Given the description of an element on the screen output the (x, y) to click on. 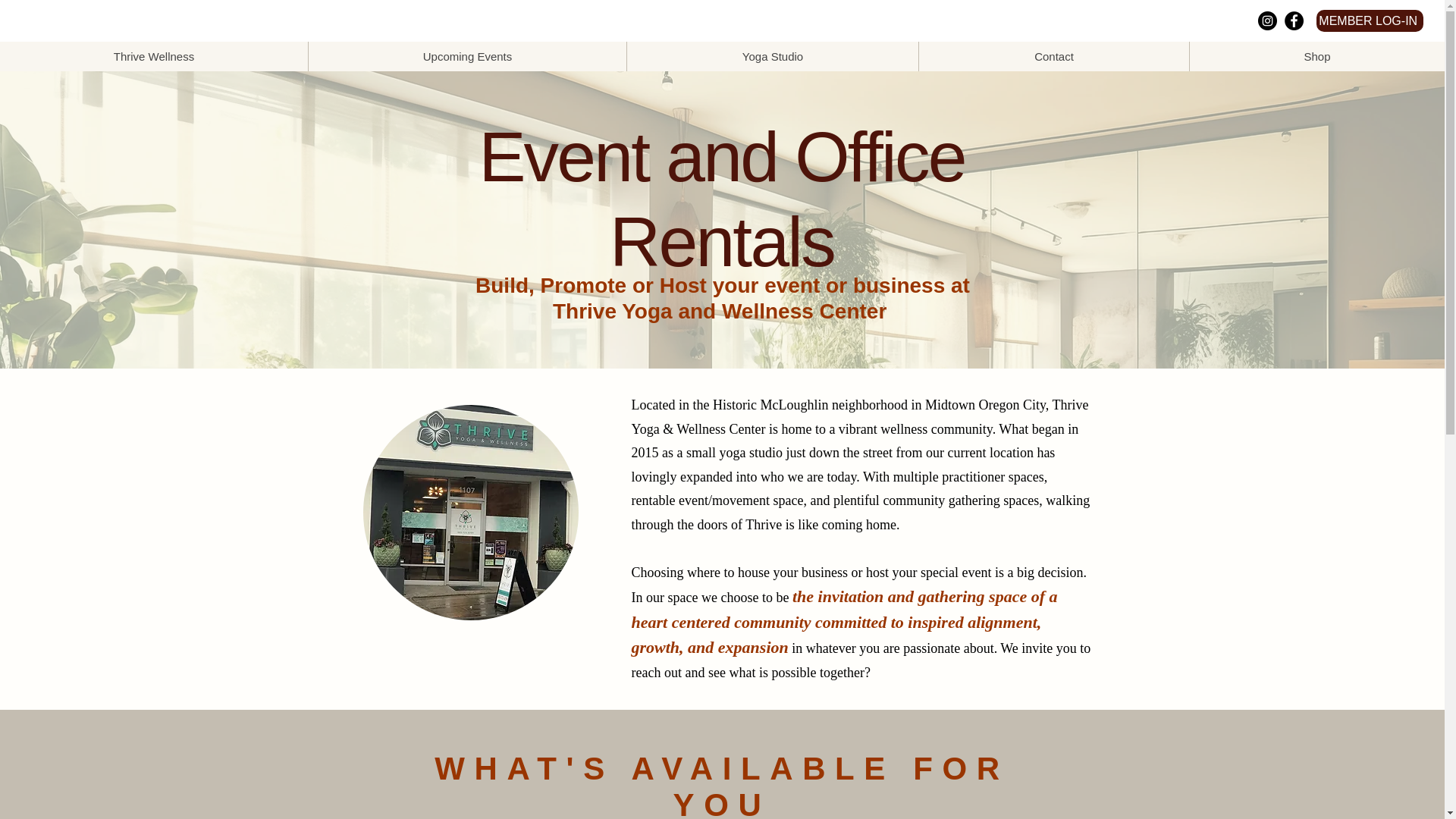
Contact (1053, 56)
Thrive Wellness (153, 56)
Upcoming Events (466, 56)
MEMBER LOG-IN (1369, 20)
